Given the description of an element on the screen output the (x, y) to click on. 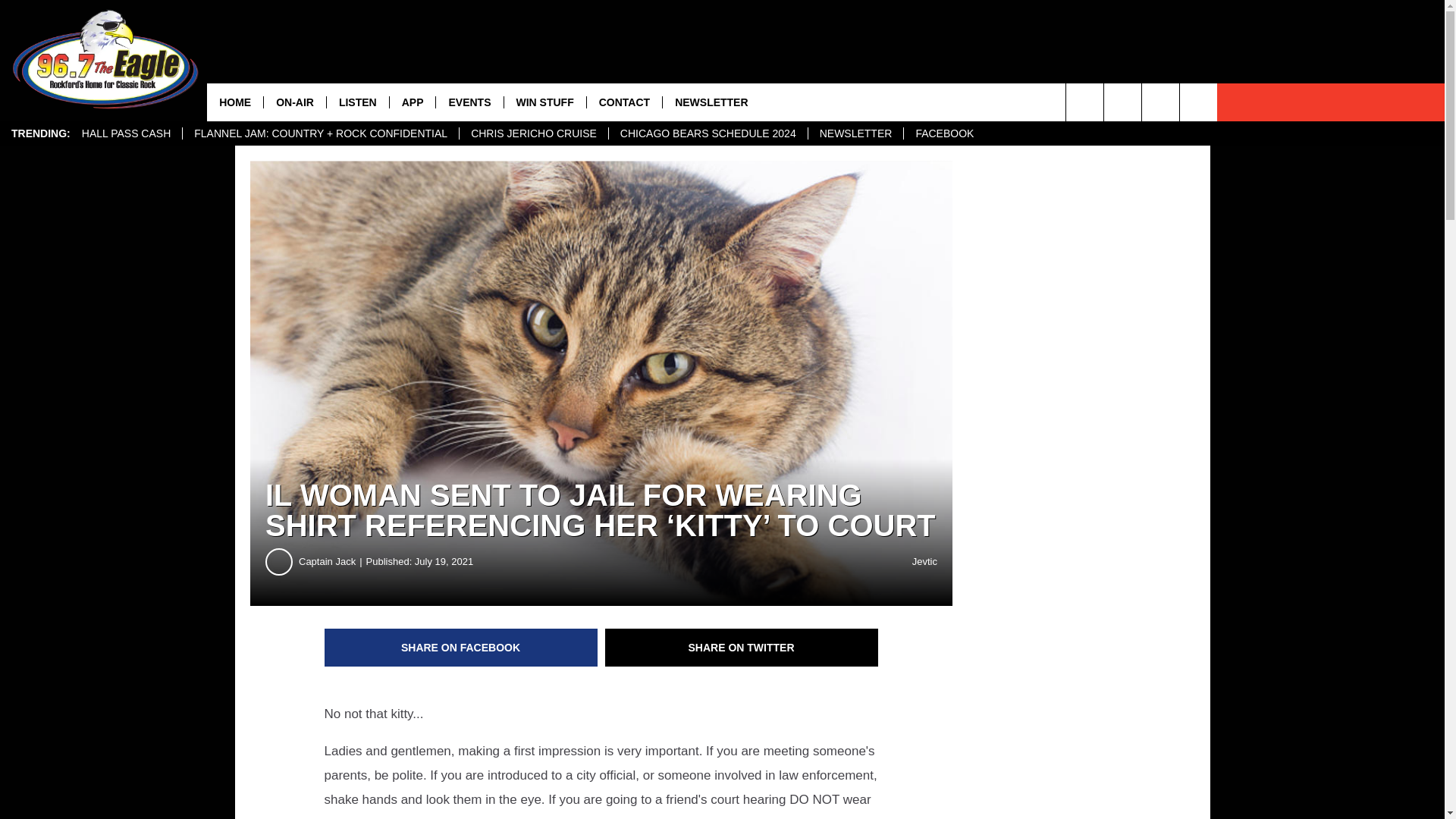
Share on Facebook (460, 647)
CHRIS JERICHO CRUISE (533, 133)
NEWSLETTER (856, 133)
APP (411, 102)
HOME (234, 102)
EVENTS (468, 102)
LISTEN (357, 102)
CHICAGO BEARS SCHEDULE 2024 (708, 133)
ON-AIR (294, 102)
FACEBOOK (943, 133)
